Given the description of an element on the screen output the (x, y) to click on. 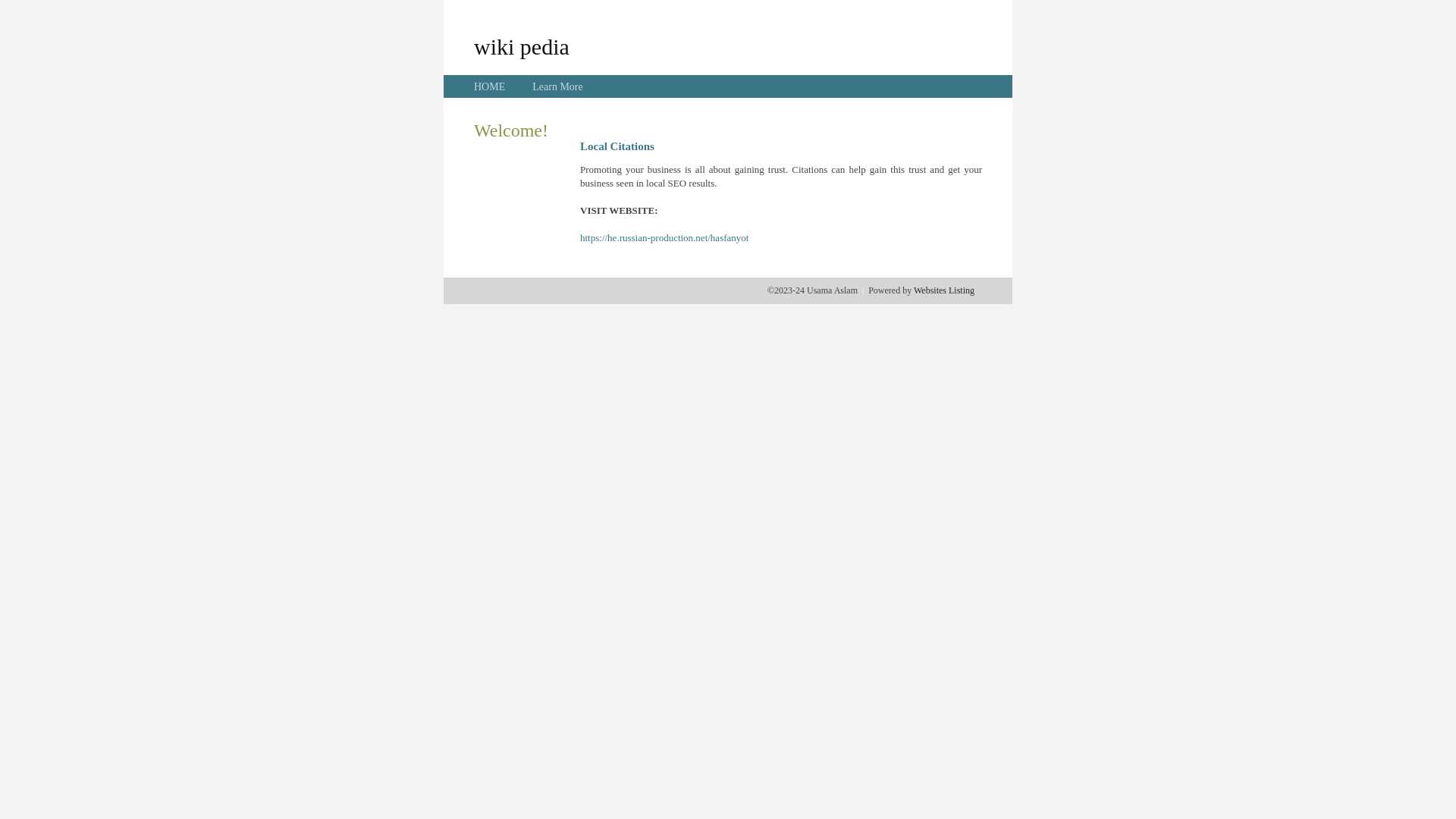
Websites Listing Element type: text (943, 290)
wiki pedia Element type: text (521, 46)
HOME Element type: text (489, 86)
Learn More Element type: text (557, 86)
https://he.russian-production.net/hasfanyot Element type: text (664, 237)
